Given the description of an element on the screen output the (x, y) to click on. 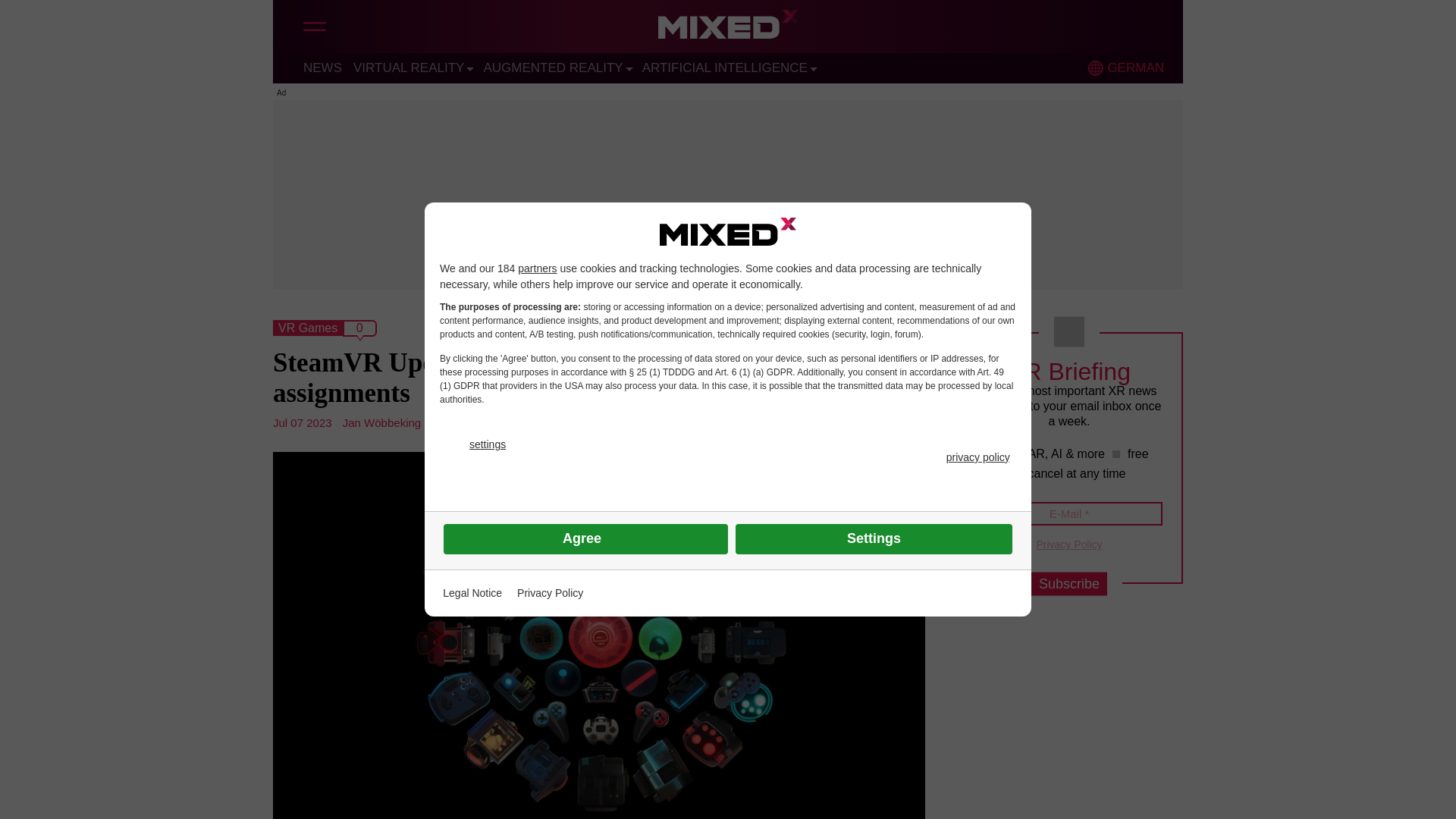
NEWS (322, 67)
AUGMENTED REALITY (553, 67)
VIRTUAL REALITY (408, 67)
german (1095, 68)
ARTIFICIAL INTELLIGENCE (725, 67)
Jul 07 2023 (302, 422)
Subscribe (1068, 584)
MIXED Reality News (727, 28)
MIXED Reality News (727, 28)
